Given the description of an element on the screen output the (x, y) to click on. 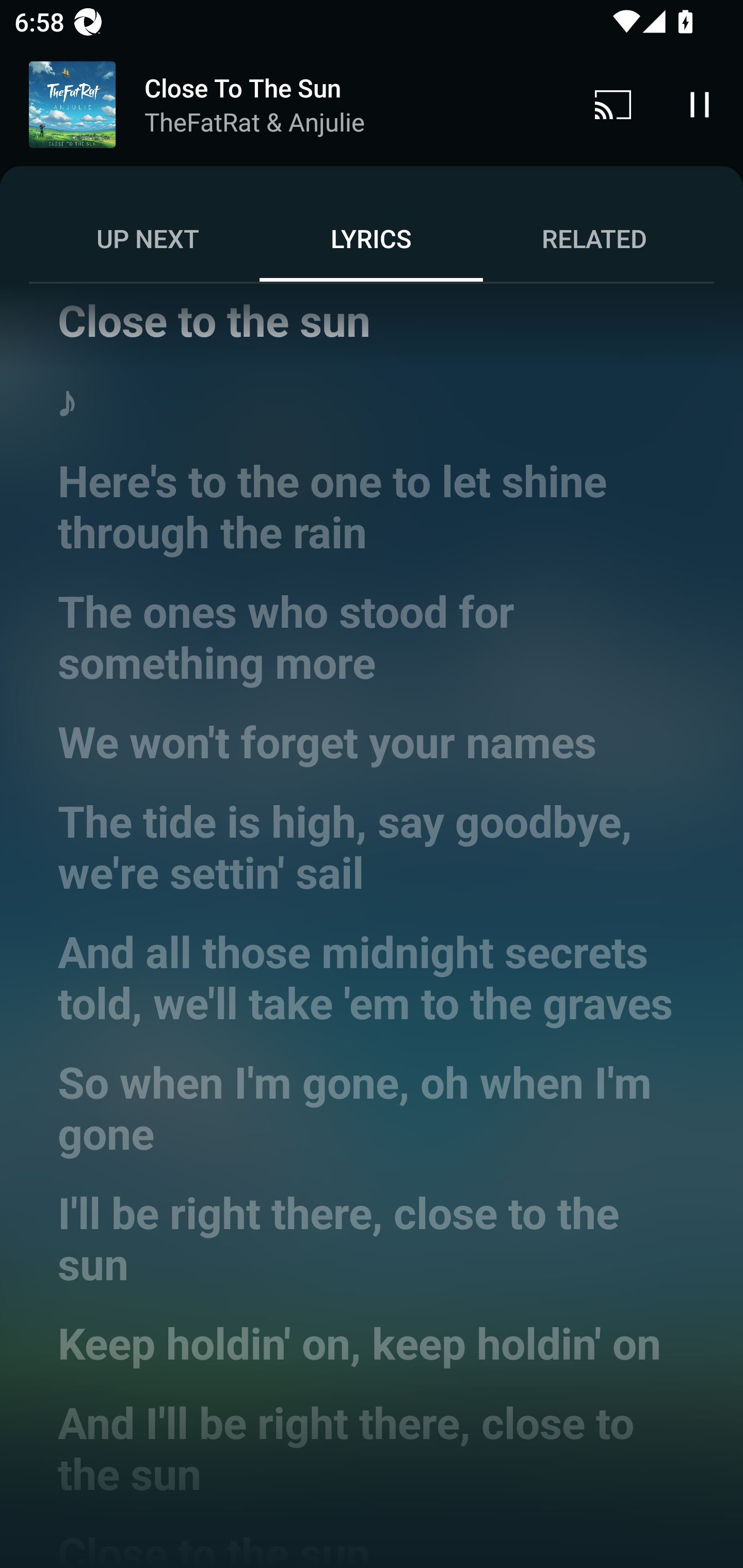
Close To The Sun TheFatRat & Anjulie (284, 104)
Search (605, 86)
Account (696, 86)
Up next UP NEXT (147, 238)
Related RELATED (594, 238)
